Given the description of an element on the screen output the (x, y) to click on. 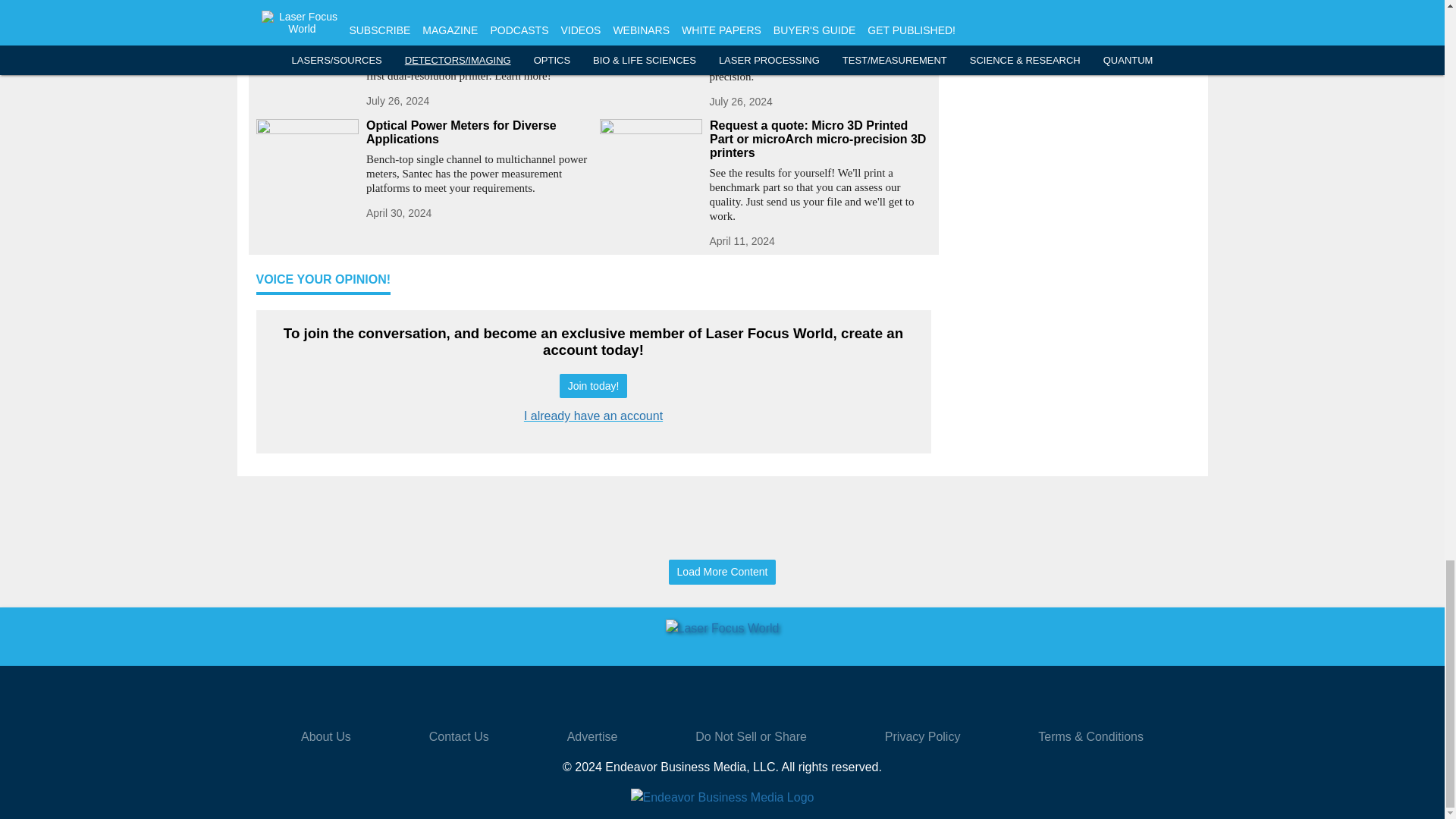
Optical Power Meters for Diverse Applications (476, 132)
